Given the description of an element on the screen output the (x, y) to click on. 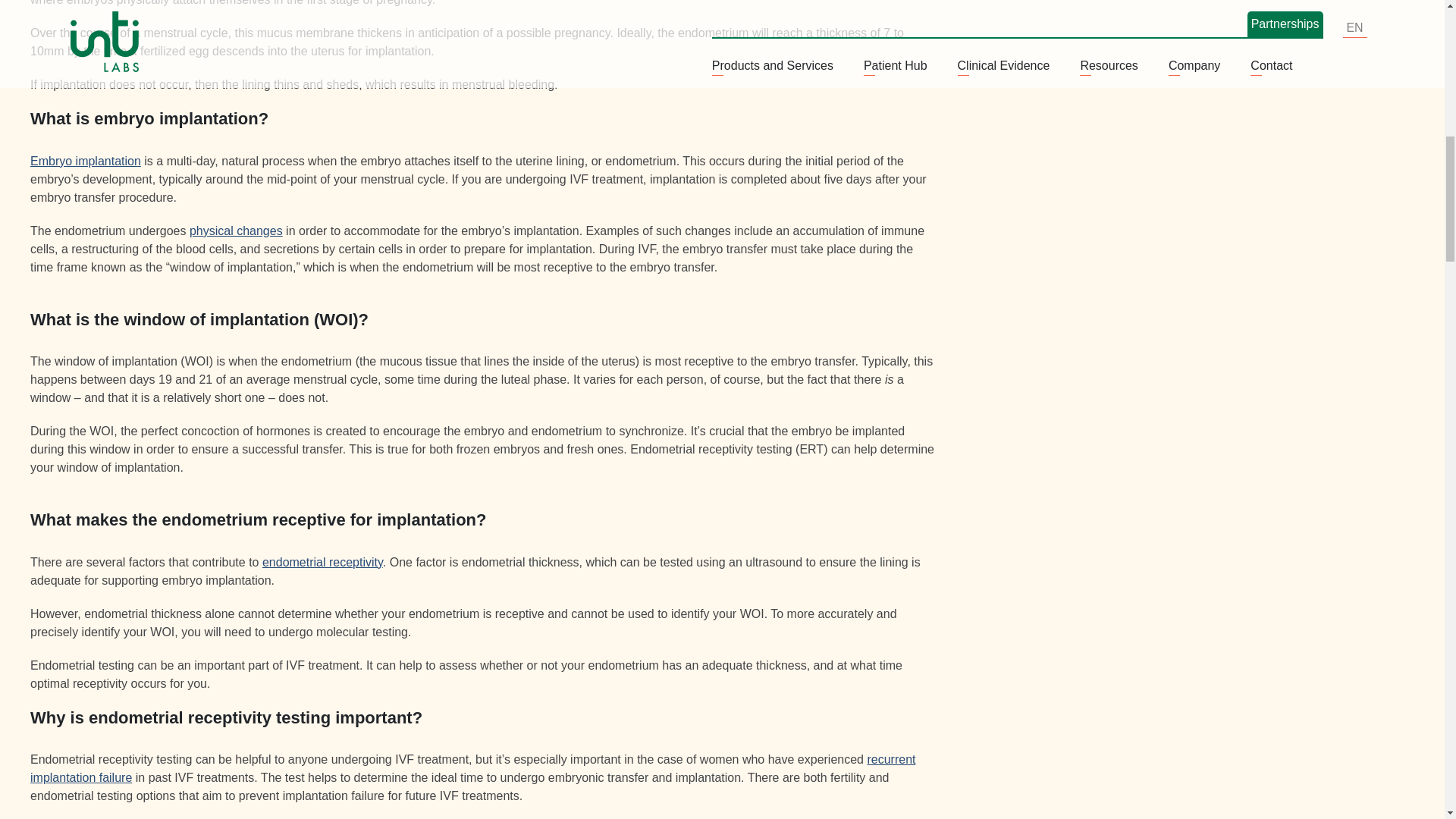
physical changes (235, 230)
endometrial receptivity (322, 562)
Embryo implantation (85, 160)
recurrent implantation failure (472, 767)
